Given the description of an element on the screen output the (x, y) to click on. 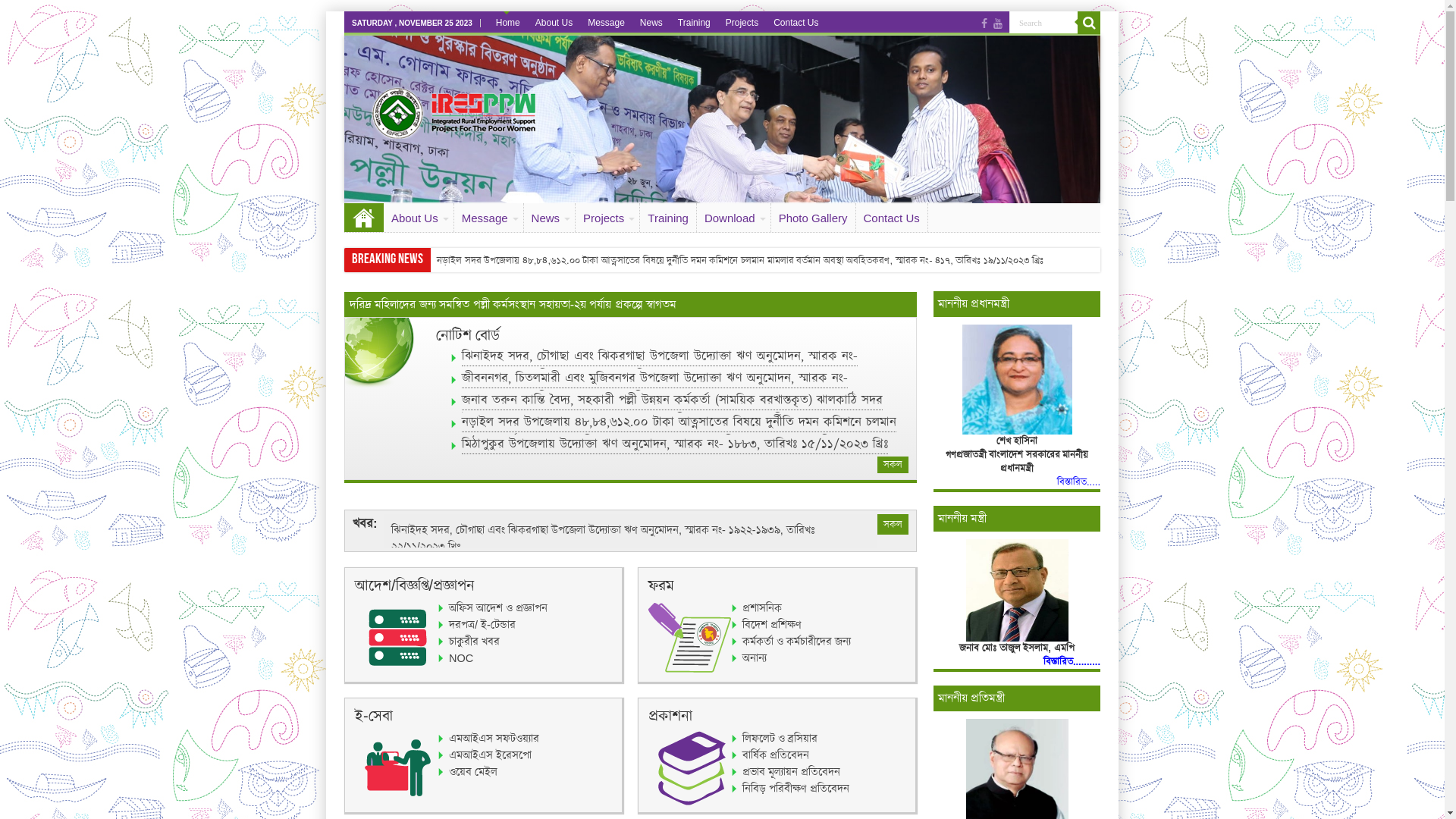
NOC Element type: text (455, 658)
Projects Element type: text (741, 22)
News Element type: text (651, 22)
Projects Element type: text (607, 217)
Training Element type: text (694, 22)
Home Element type: text (507, 22)
Training Element type: text (668, 217)
Message Element type: text (489, 217)
About Us Element type: text (553, 22)
Home Element type: text (363, 217)
Contact Us Element type: text (892, 217)
Photo Gallery Element type: text (813, 217)
Facebook Element type: hover (983, 23)
Download Element type: text (733, 217)
Search Element type: text (1088, 22)
Message Element type: text (606, 22)
Youtube Element type: hover (997, 23)
Contact Us Element type: text (795, 22)
Search Element type: hover (1043, 22)
About Us Element type: text (418, 217)
News Element type: text (550, 217)
